Given the description of an element on the screen output the (x, y) to click on. 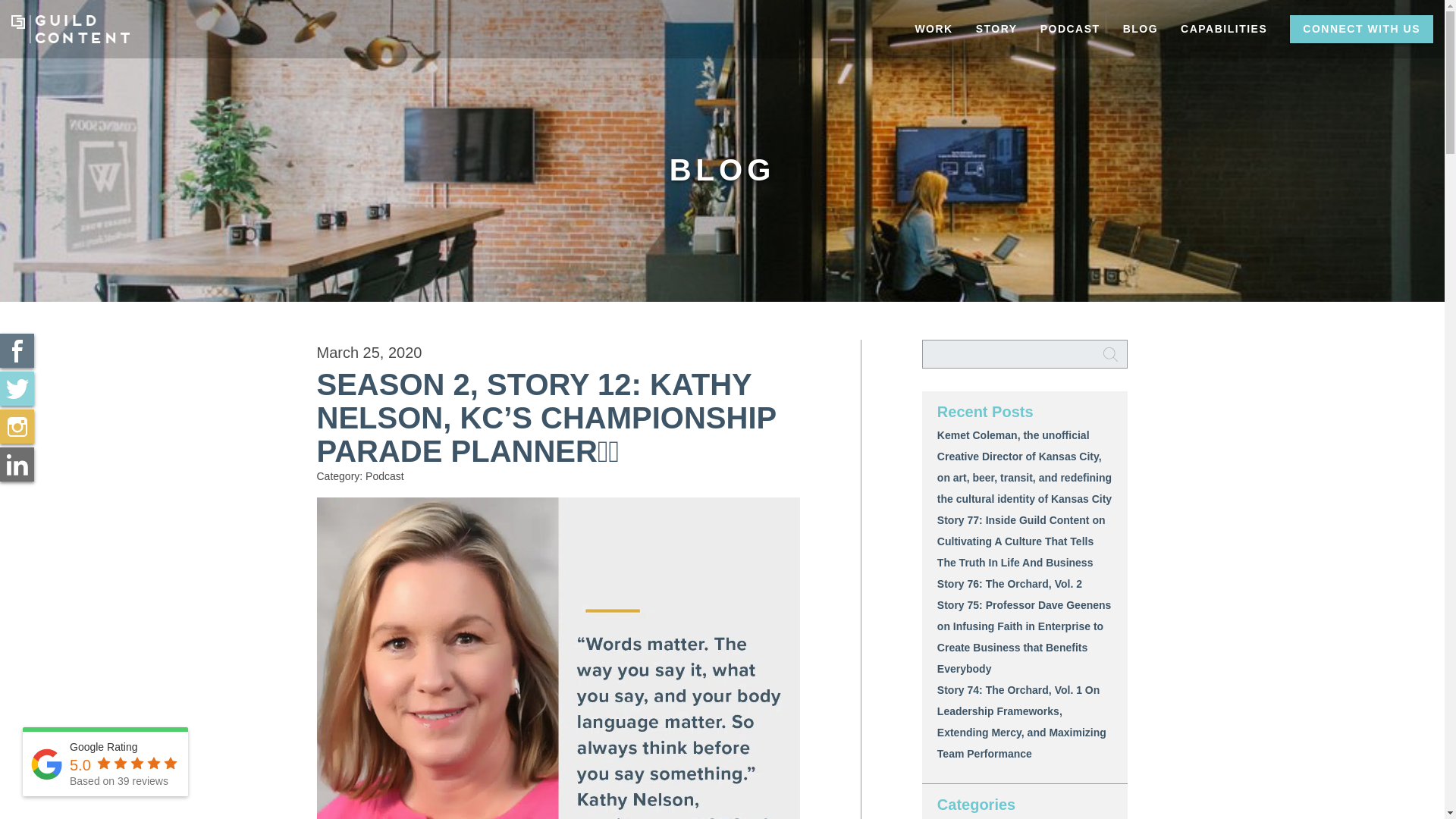
CONNECT WITH US (1361, 29)
Search (1109, 353)
BLOG (1140, 29)
STORY (996, 29)
WORK (932, 29)
CAPABILITIES (1223, 29)
Podcast (384, 476)
Story 76: The Orchard, Vol. 2 (1009, 583)
